Given the description of an element on the screen output the (x, y) to click on. 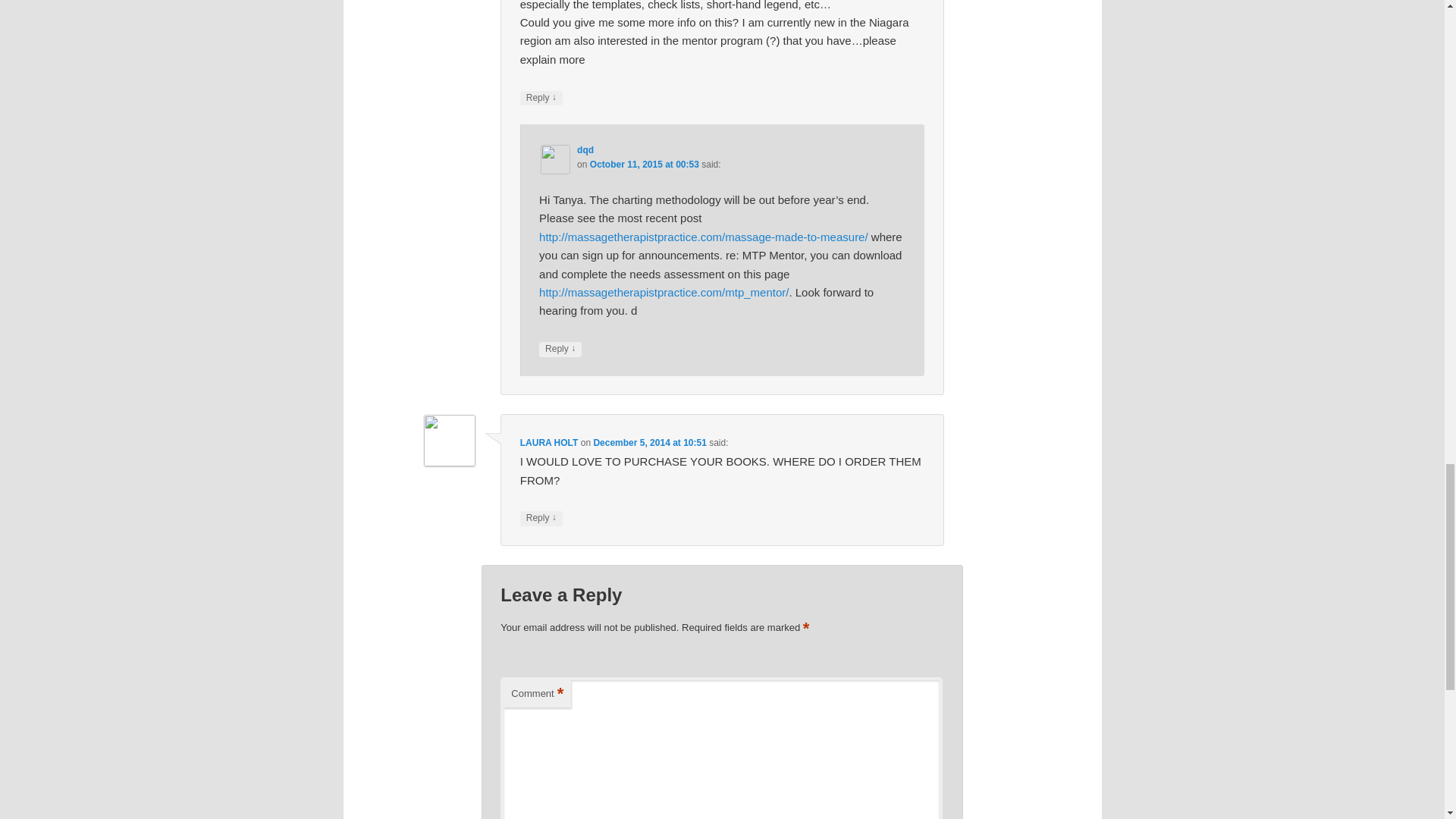
October 11, 2015 at 00:53 (643, 163)
LAURA HOLT (548, 442)
dqd (585, 149)
December 5, 2014 at 10:51 (649, 442)
